Given the description of an element on the screen output the (x, y) to click on. 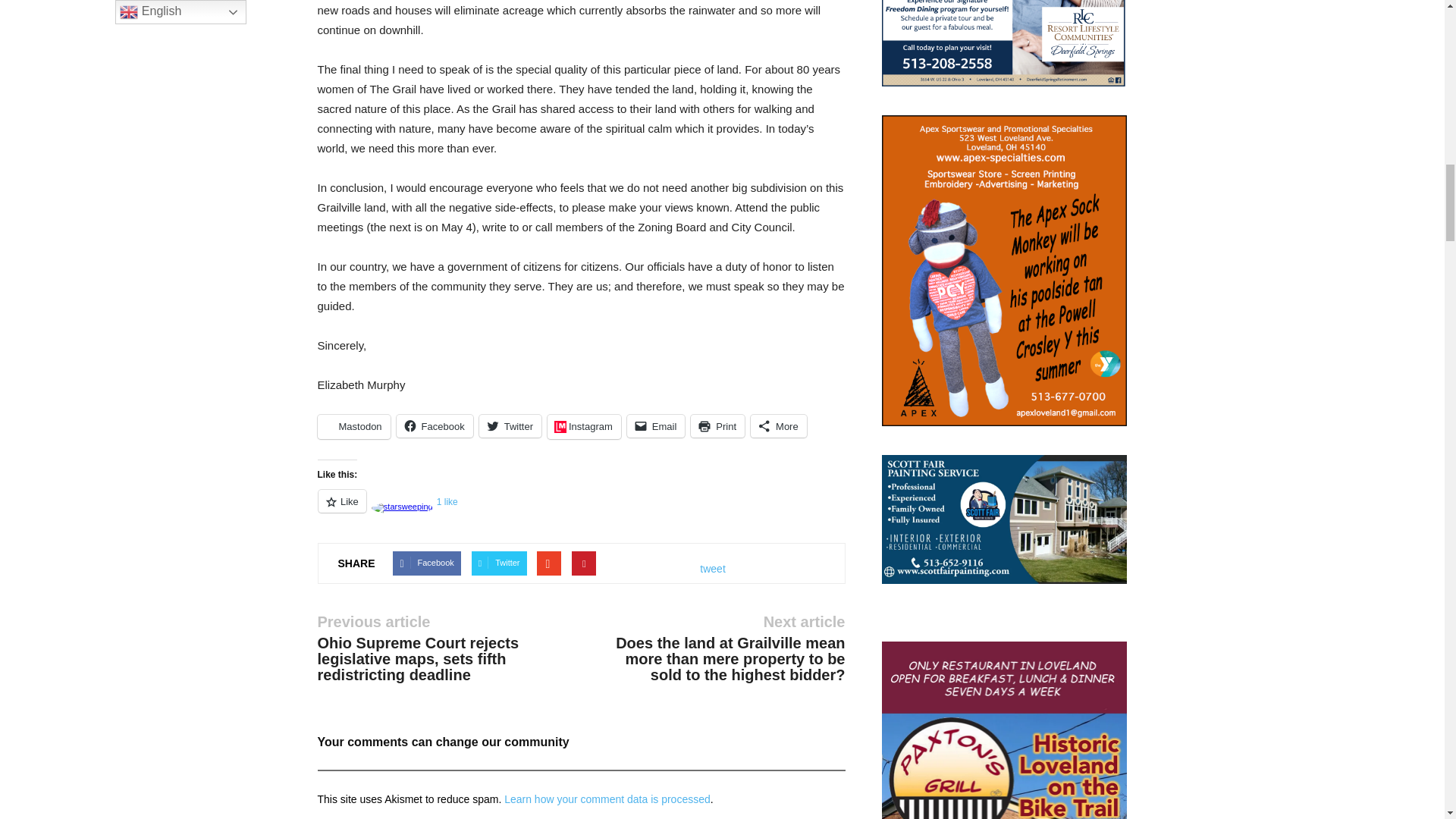
Click to share on Facebook (434, 425)
Click to share on Instagram (584, 426)
Click to share on Twitter (510, 425)
Click to share on Mastodon (353, 426)
